Given the description of an element on the screen output the (x, y) to click on. 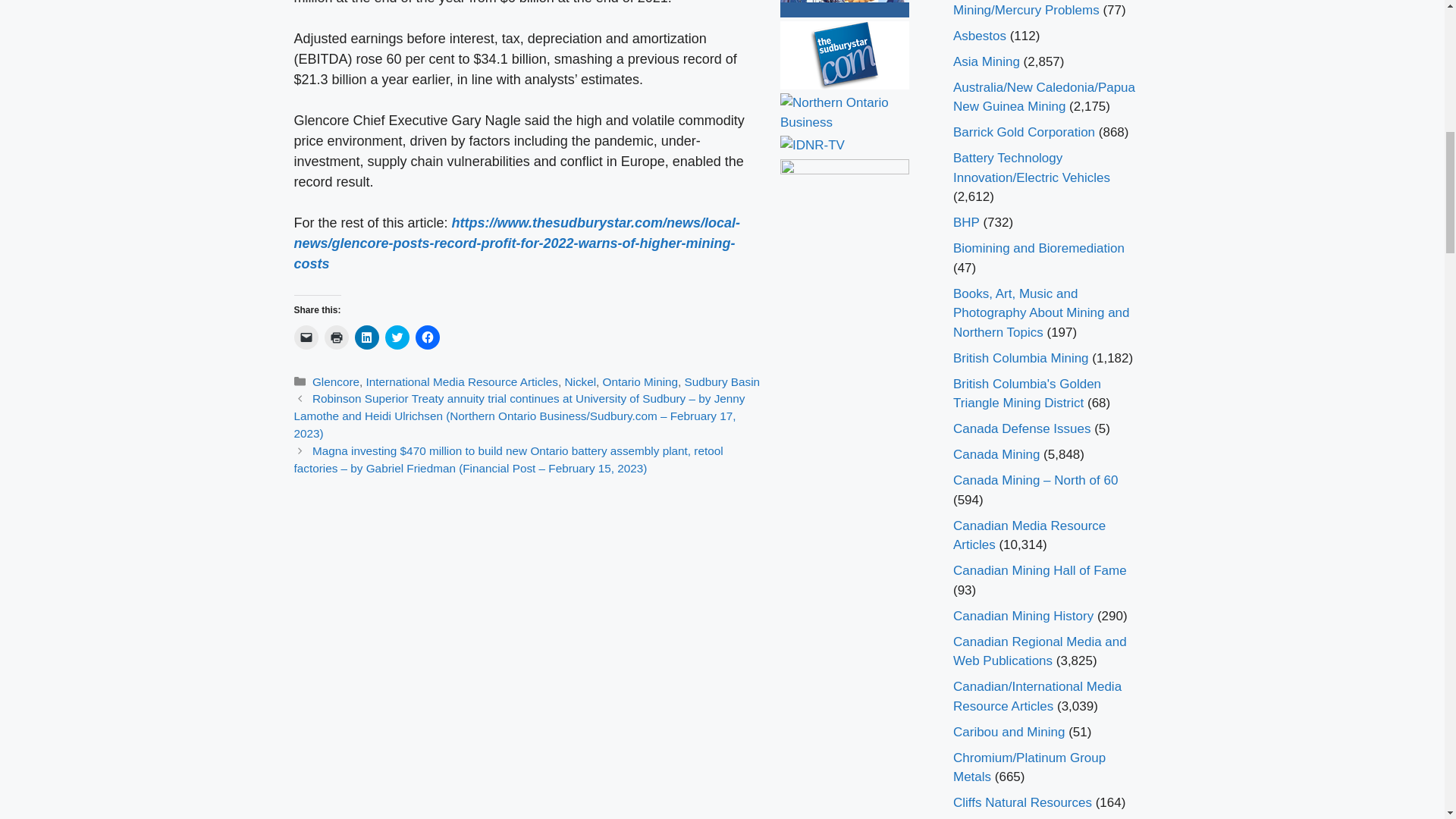
Click to share on LinkedIn (366, 337)
Click to print (336, 337)
Click to email a link to a friend (306, 337)
Click to share on Twitter (397, 337)
Click to share on Facebook (426, 337)
Scroll back to top (1406, 720)
